Given the description of an element on the screen output the (x, y) to click on. 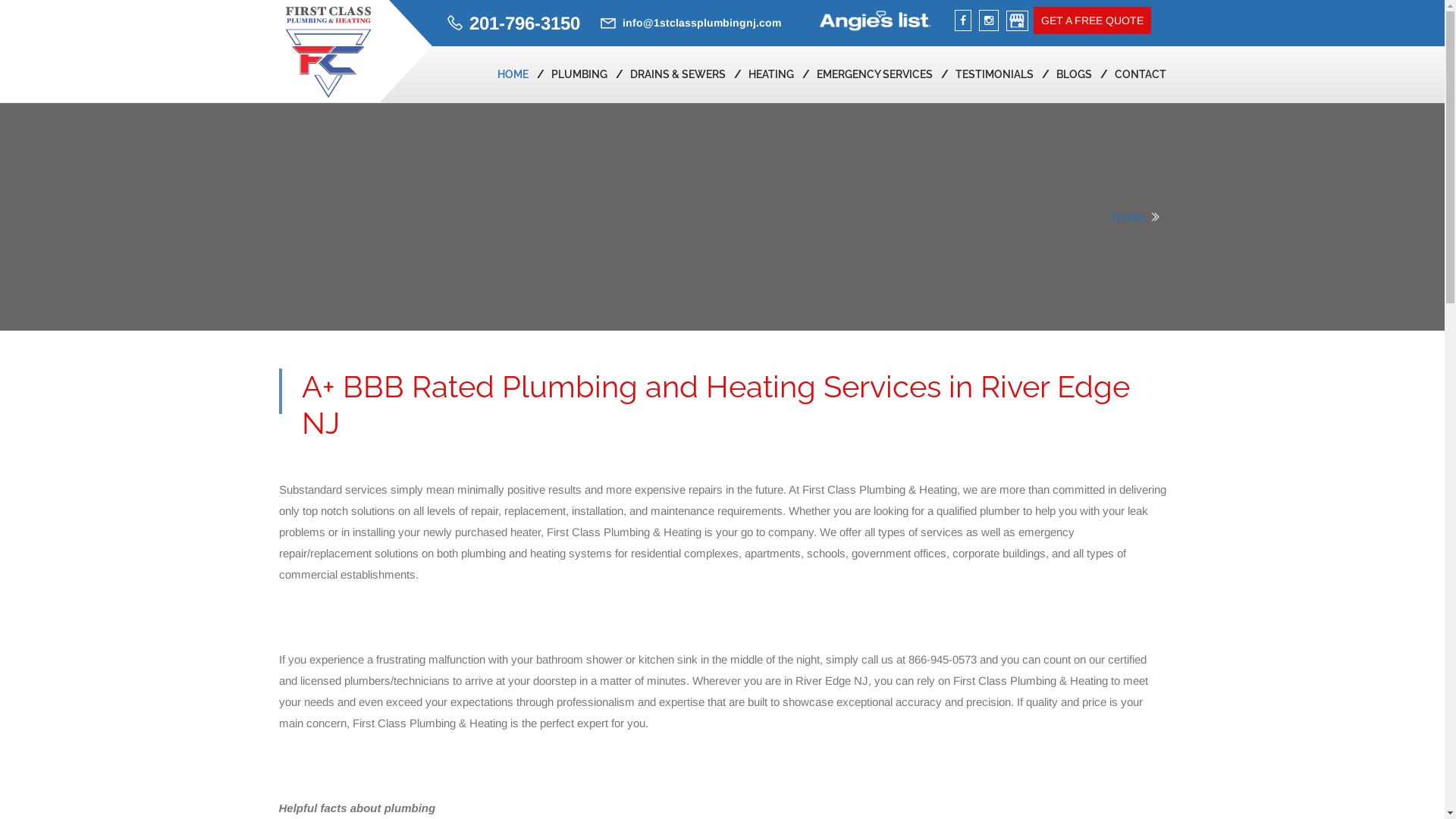
DRAINS & SEWERS Element type: text (676, 74)
HOME Element type: text (512, 74)
info@1stclassplumbingnj.com Element type: text (700, 22)
PLUMBING Element type: text (578, 74)
BLOGS Element type: text (1073, 74)
Home Element type: text (1126, 216)
GET A FREE QUOTE Element type: text (1091, 19)
HEATING Element type: text (770, 74)
201-796-3150 Element type: text (523, 22)
TESTIMONIALS Element type: text (994, 74)
CONTACT Element type: text (1140, 74)
EMERGENCY SERVICES Element type: text (873, 74)
